Given the description of an element on the screen output the (x, y) to click on. 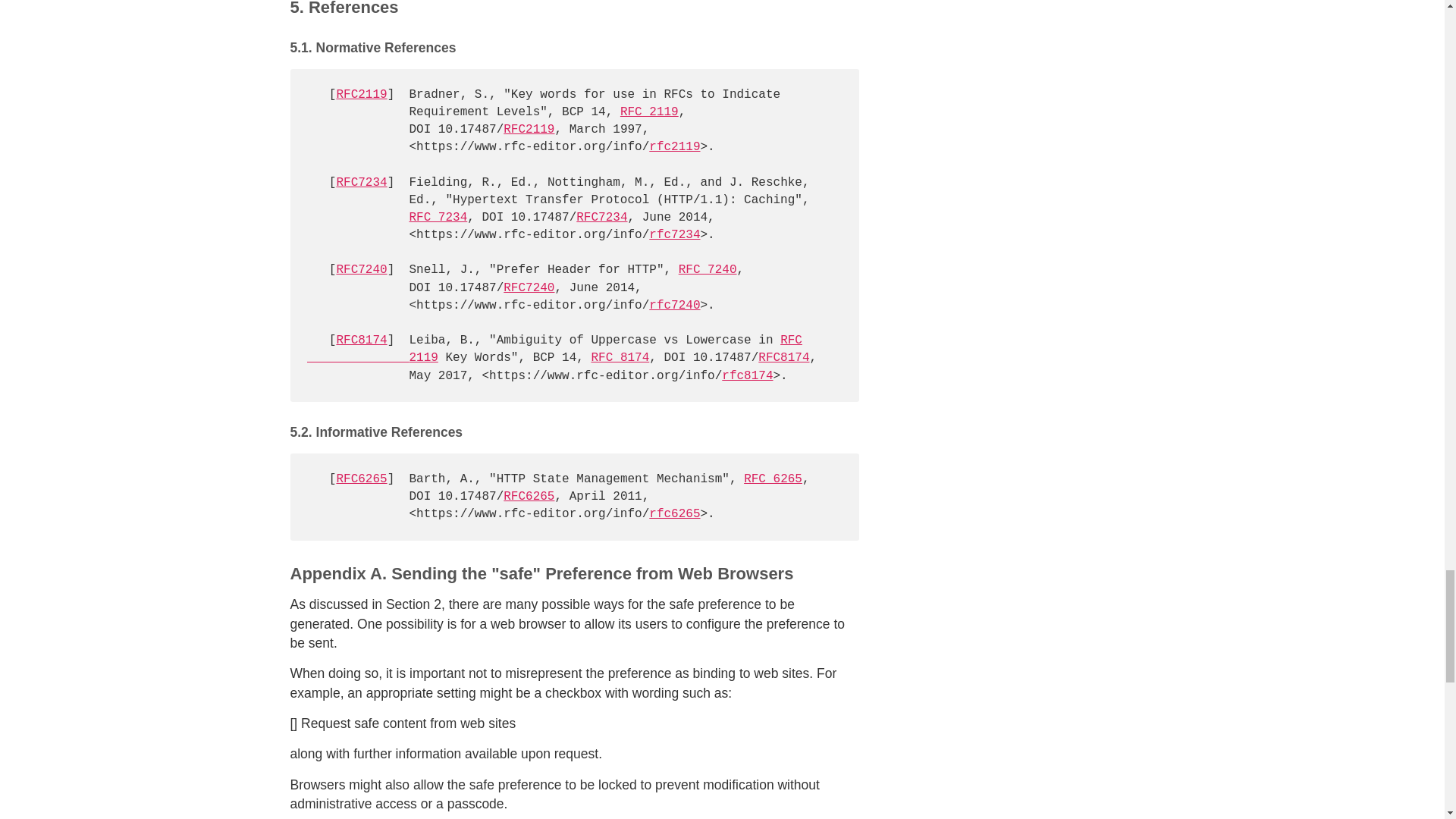
RFC2119 (361, 94)
RFC7234 (361, 182)
RFC 7234 (438, 217)
RFC7240 (361, 269)
RFC2119 (528, 129)
RFC 2119 (649, 111)
RFC7234 (601, 217)
rfc2119 (674, 146)
rfc7234 (674, 234)
RFC 7240 (707, 269)
